Given the description of an element on the screen output the (x, y) to click on. 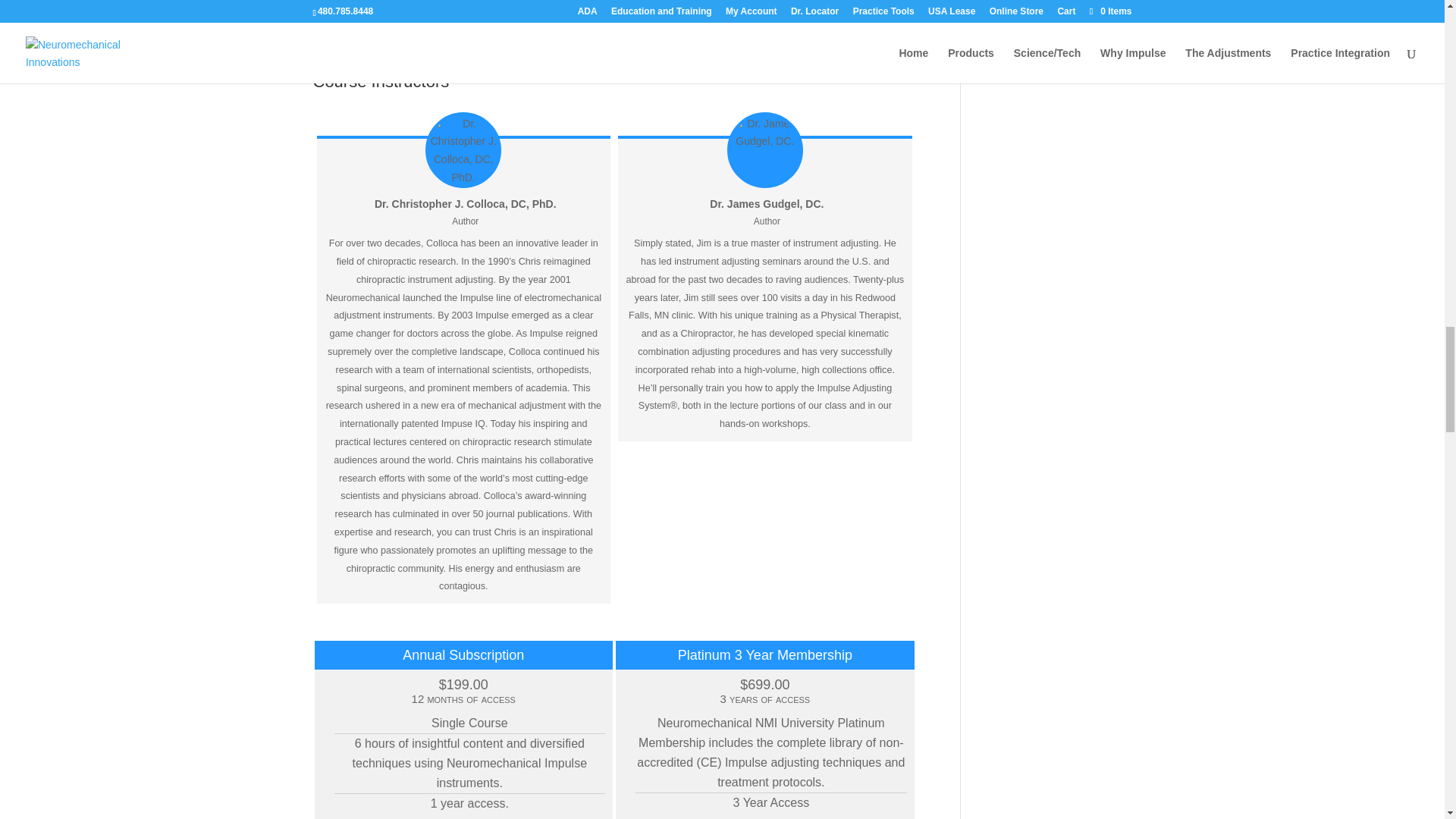
Impulse Adjusting Technique (436, 63)
